Given the description of an element on the screen output the (x, y) to click on. 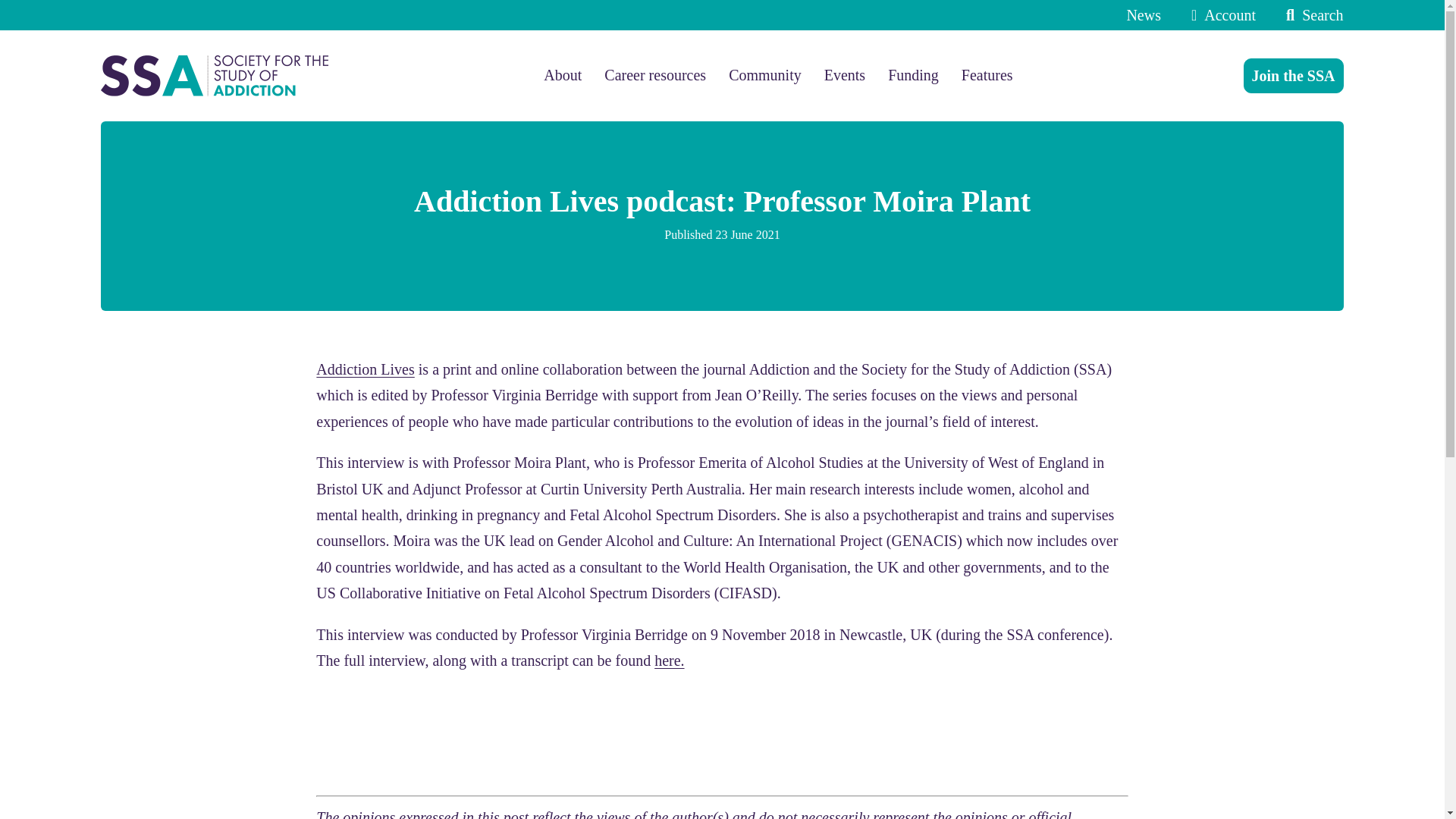
Events (844, 75)
Career resources (655, 75)
Features (986, 75)
Account (1219, 14)
Addiction Lives (364, 369)
Funding (913, 75)
About (561, 75)
Search (1310, 14)
Community (765, 75)
Join the SSA (1293, 75)
